Given the description of an element on the screen output the (x, y) to click on. 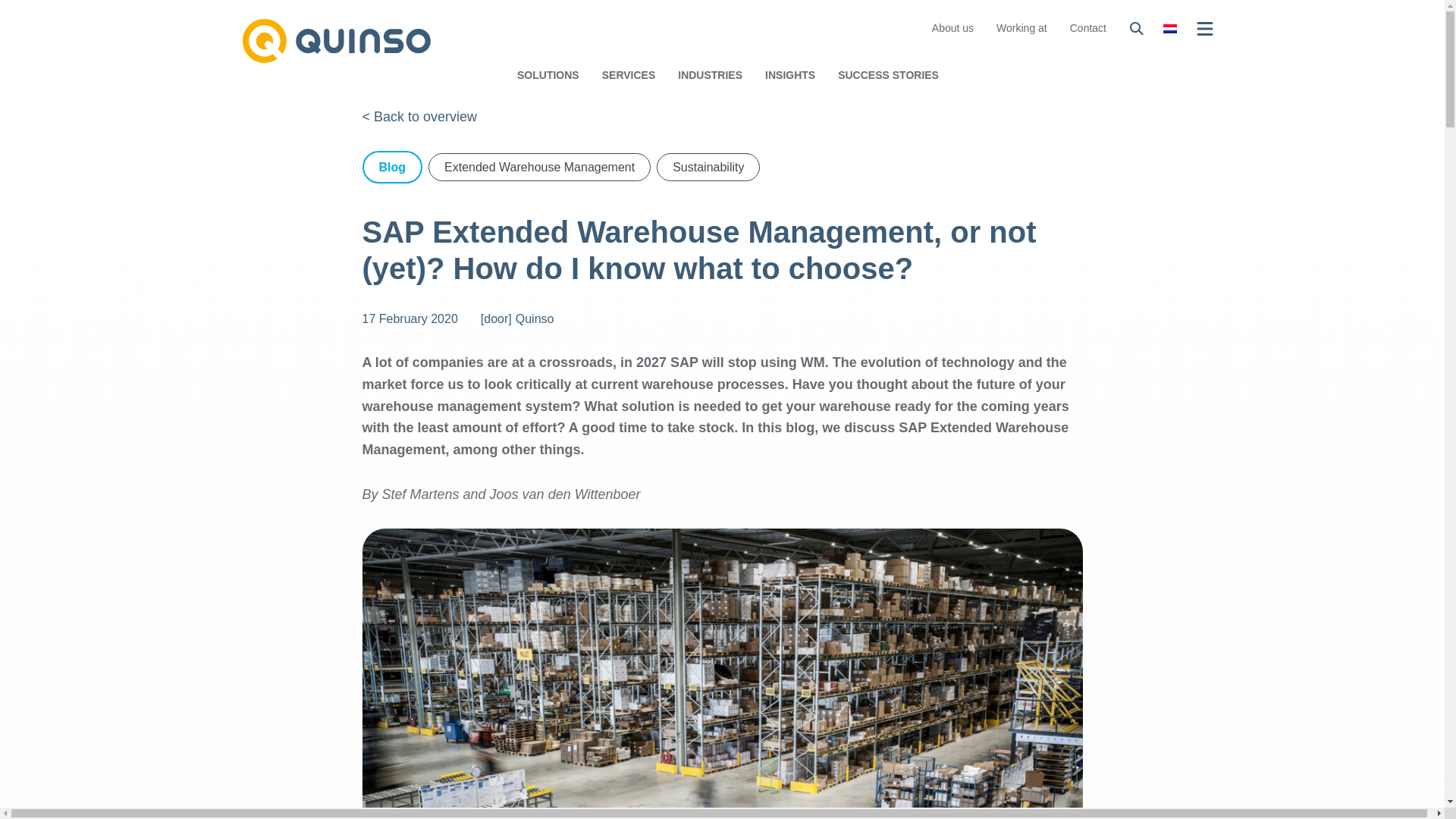
Contact (1088, 27)
Working at (1020, 27)
About us (952, 27)
